Given the description of an element on the screen output the (x, y) to click on. 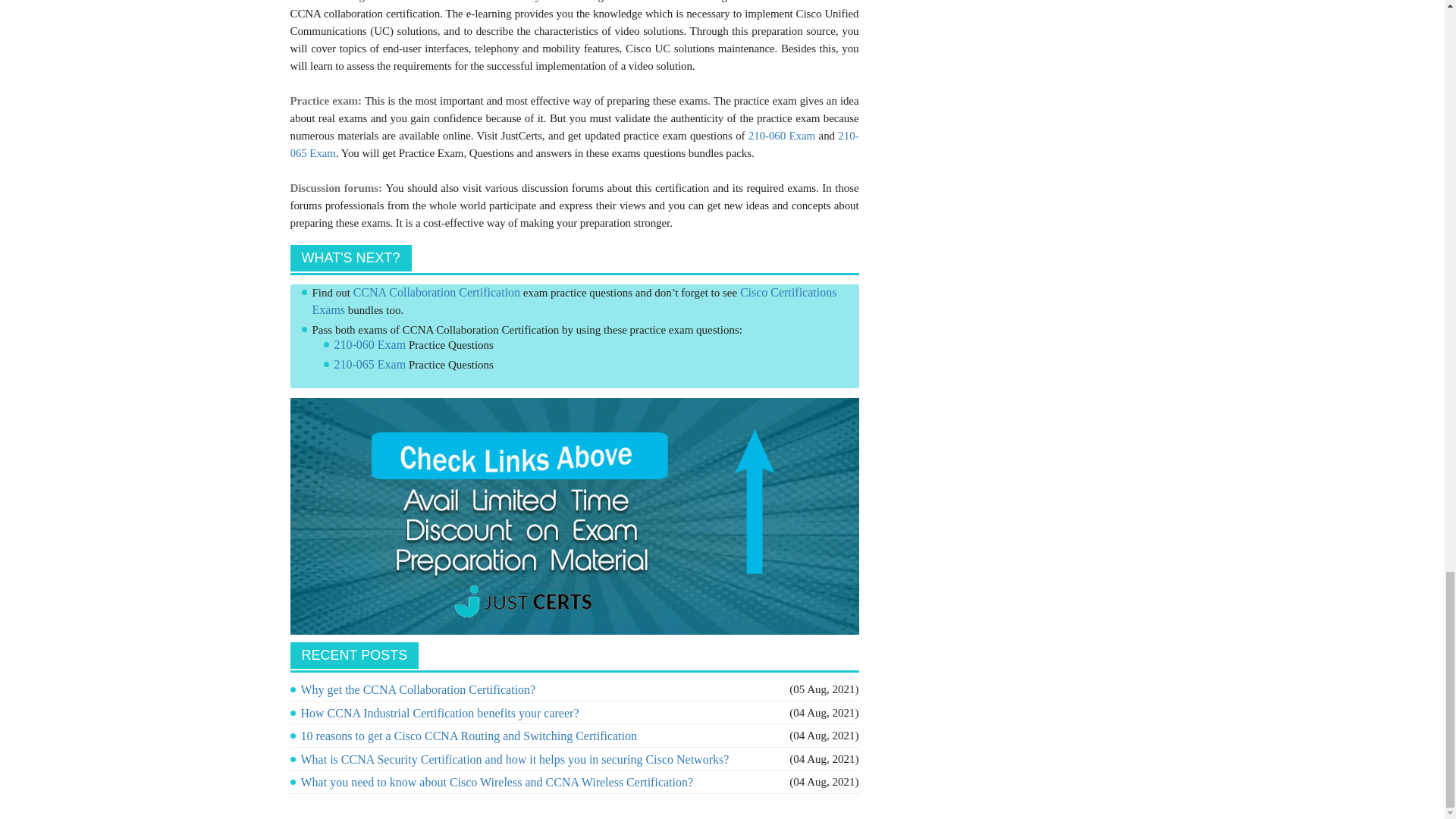
210-065 Exam (574, 143)
official website (809, 1)
210-060 Exam (781, 135)
How CCNA Industrial Certification benefits your career? (438, 713)
Why get the CCNA Collaboration Certification? (417, 689)
